Given the description of an element on the screen output the (x, y) to click on. 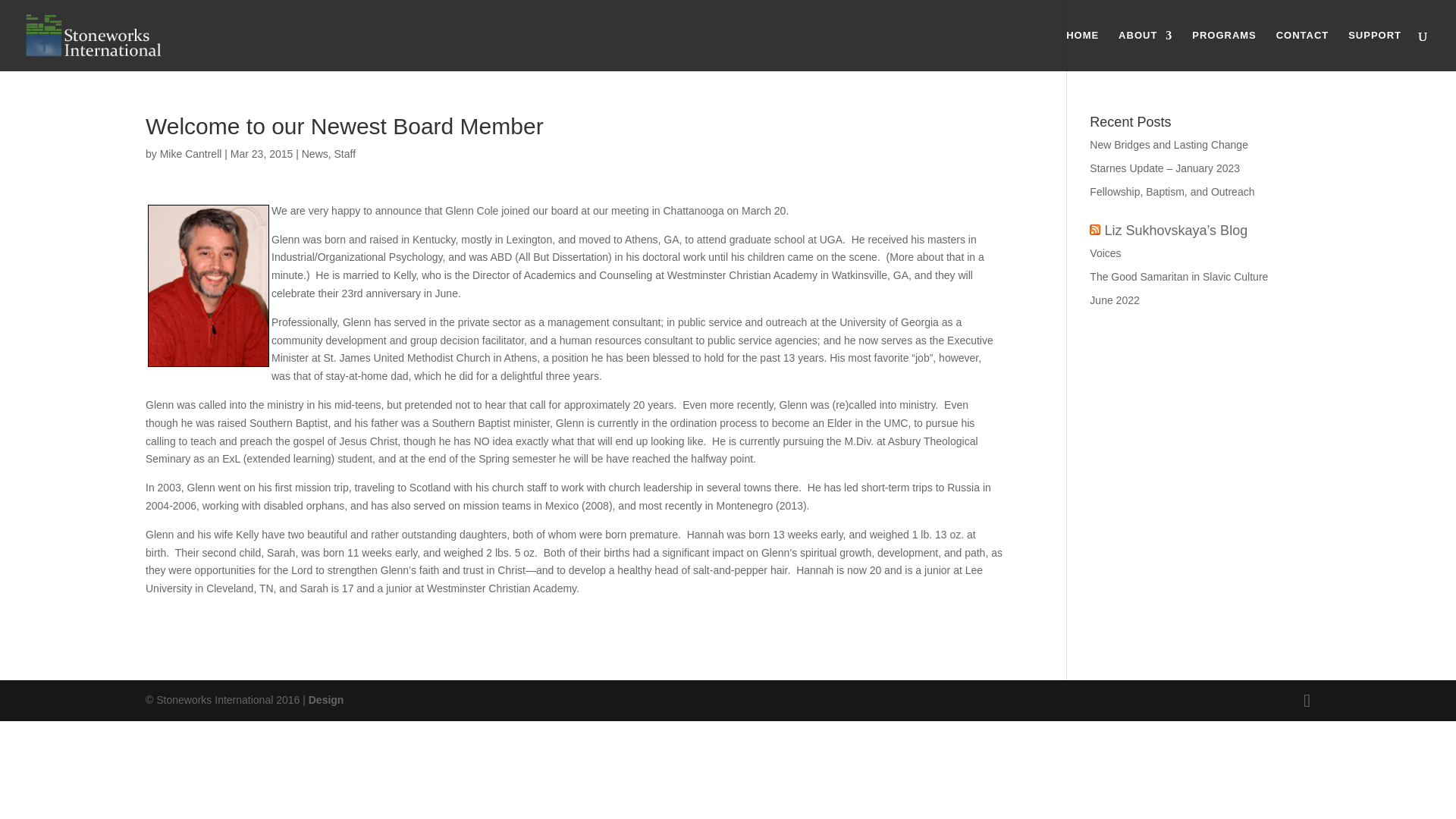
CONTACT (1302, 50)
SUPPORT (1374, 50)
ABOUT (1145, 50)
Fellowship, Baptism, and Outreach (1171, 191)
Voices (1105, 253)
Staff (345, 153)
News (315, 153)
Mike Cantrell (191, 153)
PROGRAMS (1224, 50)
June 2022 (1113, 300)
Posts by Mike Cantrell (191, 153)
The Good Samaritan in Slavic Culture (1178, 276)
New Bridges and Lasting Change (1168, 144)
Design (325, 699)
